Given the description of an element on the screen output the (x, y) to click on. 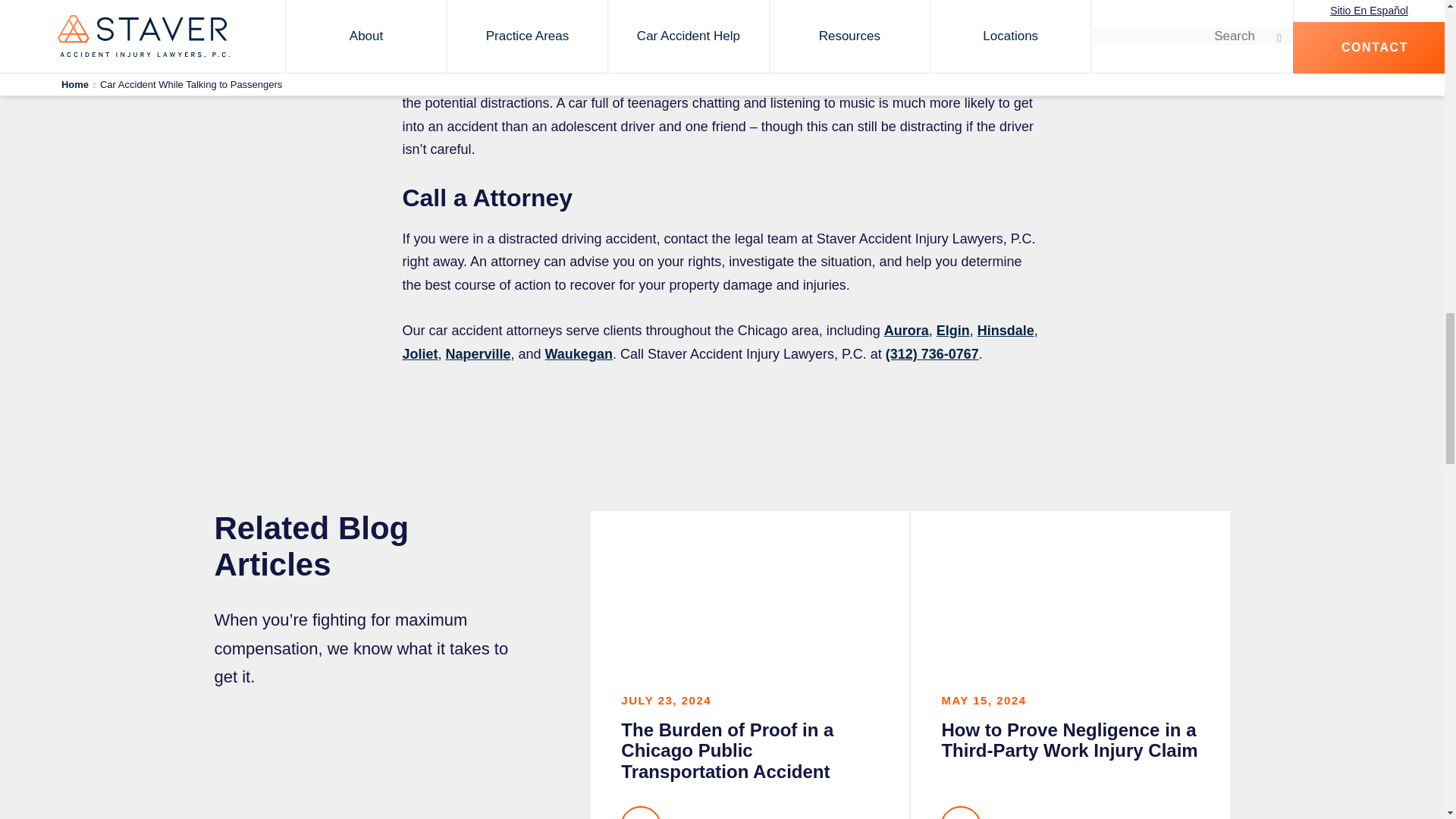
Elgin Car Accident Attorneys (952, 330)
How to Prove Negligence in a Third-Party Work Injury Claim (1070, 664)
Hinsdale Car Accident Lawyers (1004, 330)
Waukegan Car Accident Lawyers (578, 353)
Joliet Car Accident Attorneys (419, 353)
Naperville Car Accident Lawyers (478, 353)
Aurora Car Accident Lawyers (905, 330)
Call Staver Accident Injury Lawyers, P.C. (931, 353)
